Given the description of an element on the screen output the (x, y) to click on. 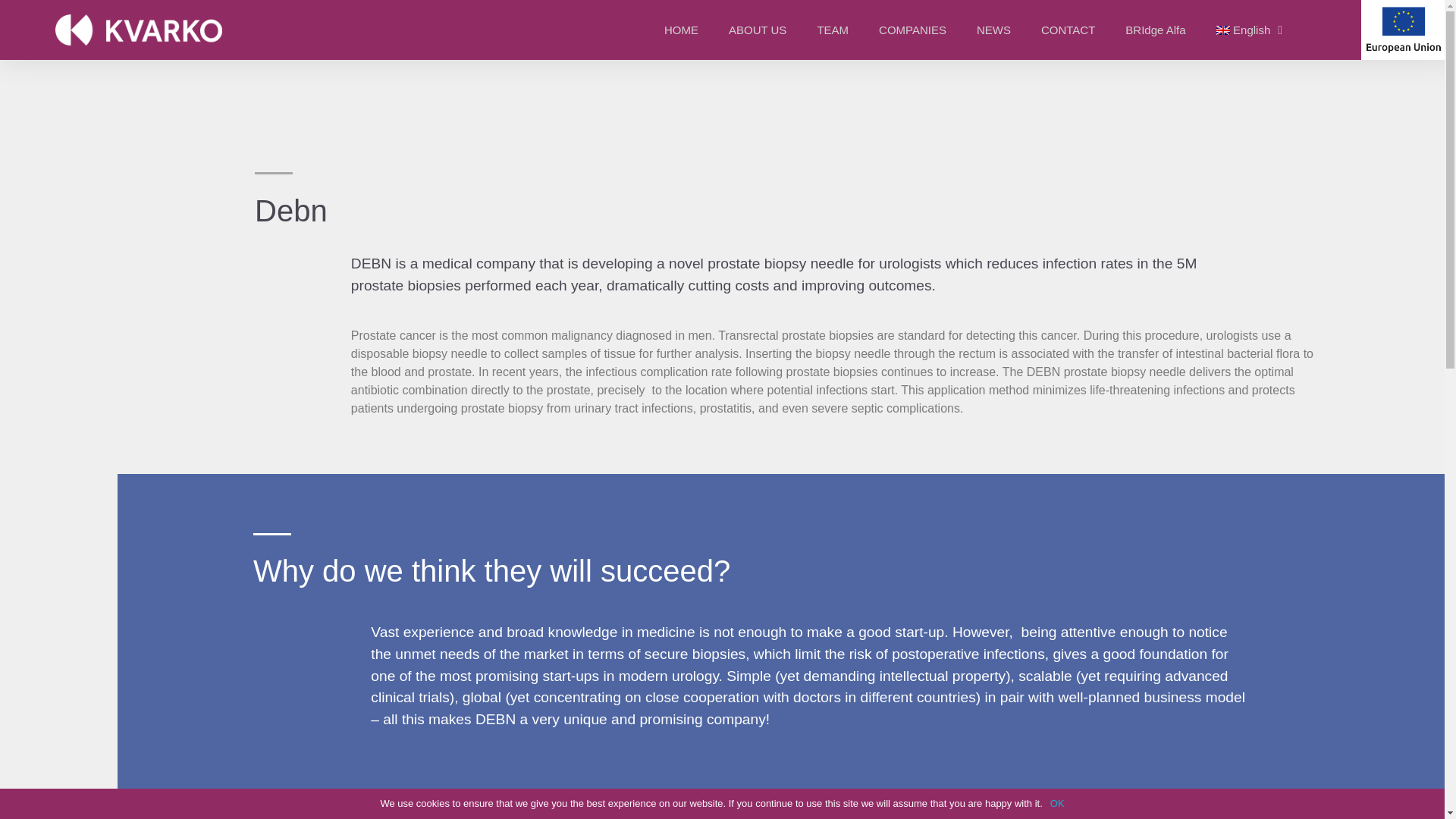
English (1249, 30)
BRIdge Alfa (1154, 30)
NEWS (993, 30)
HOME (681, 30)
CONTACT (1067, 30)
COMPANIES (911, 30)
TEAM (832, 30)
ABOUT US (757, 30)
English (1249, 30)
